Given the description of an element on the screen output the (x, y) to click on. 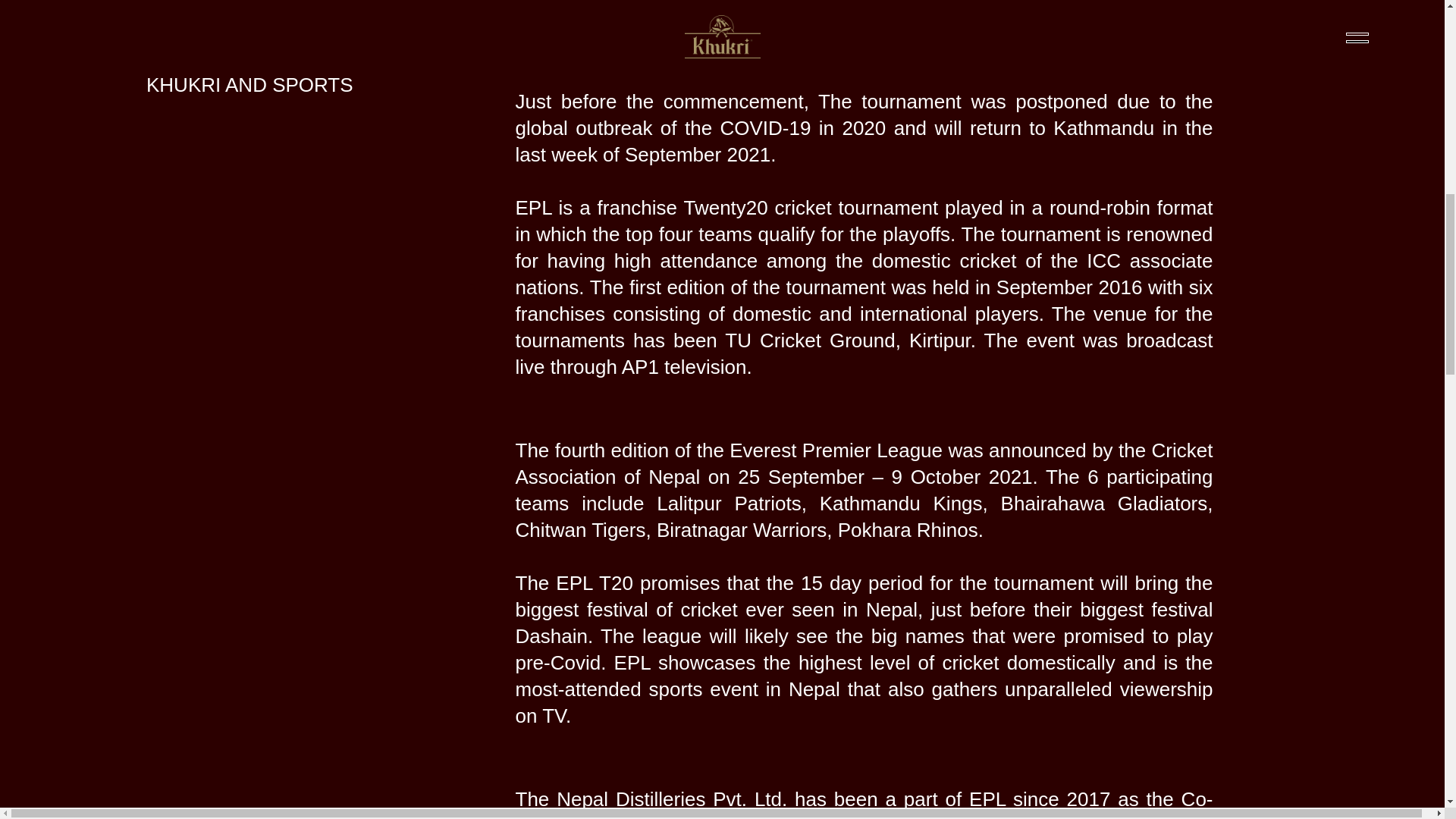
Everest Premier League (835, 451)
